Given the description of an element on the screen output the (x, y) to click on. 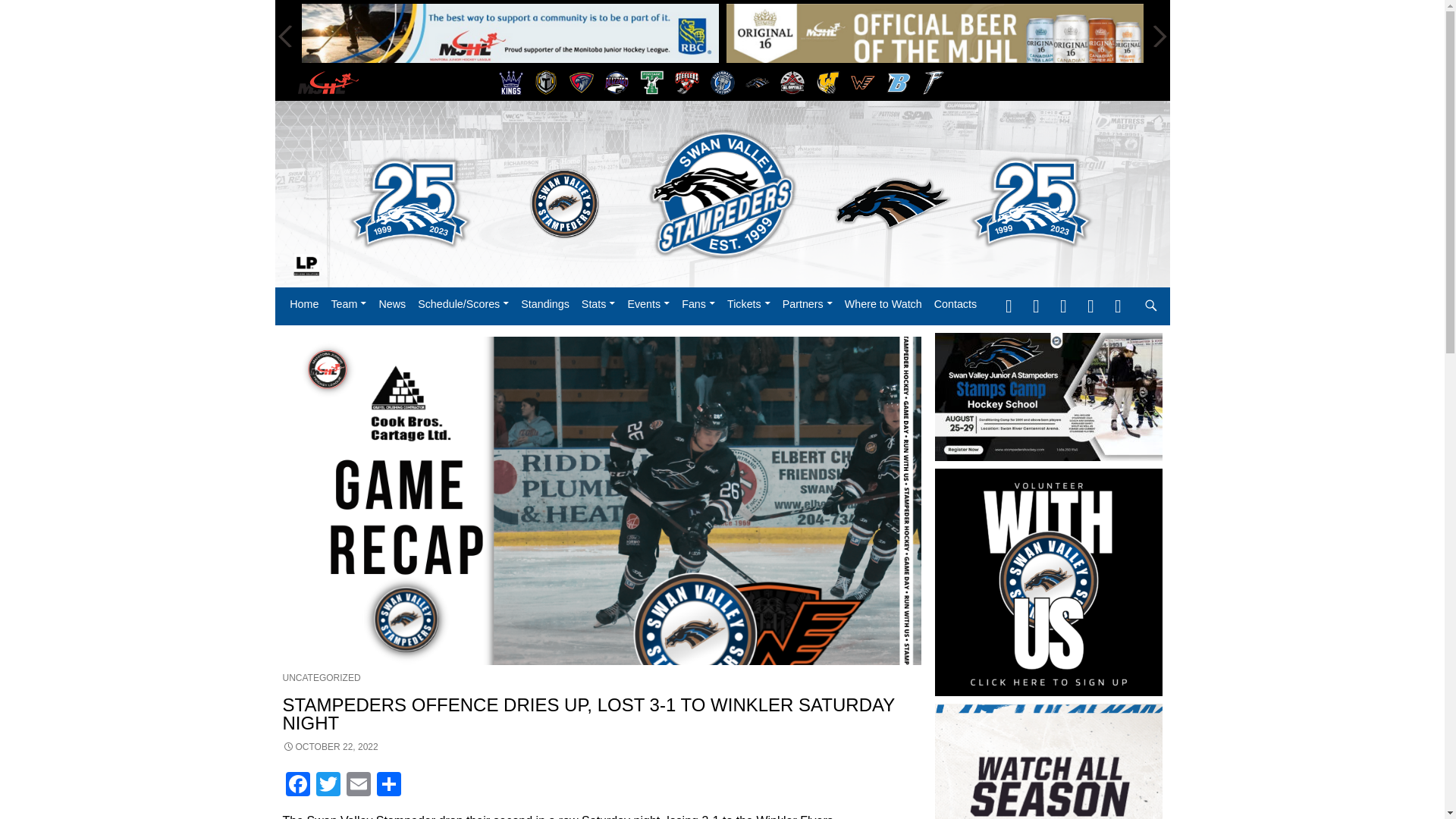
NEXT (1158, 36)
Original 16 (934, 36)
RBC (510, 36)
PREVIOUS (286, 36)
